Given the description of an element on the screen output the (x, y) to click on. 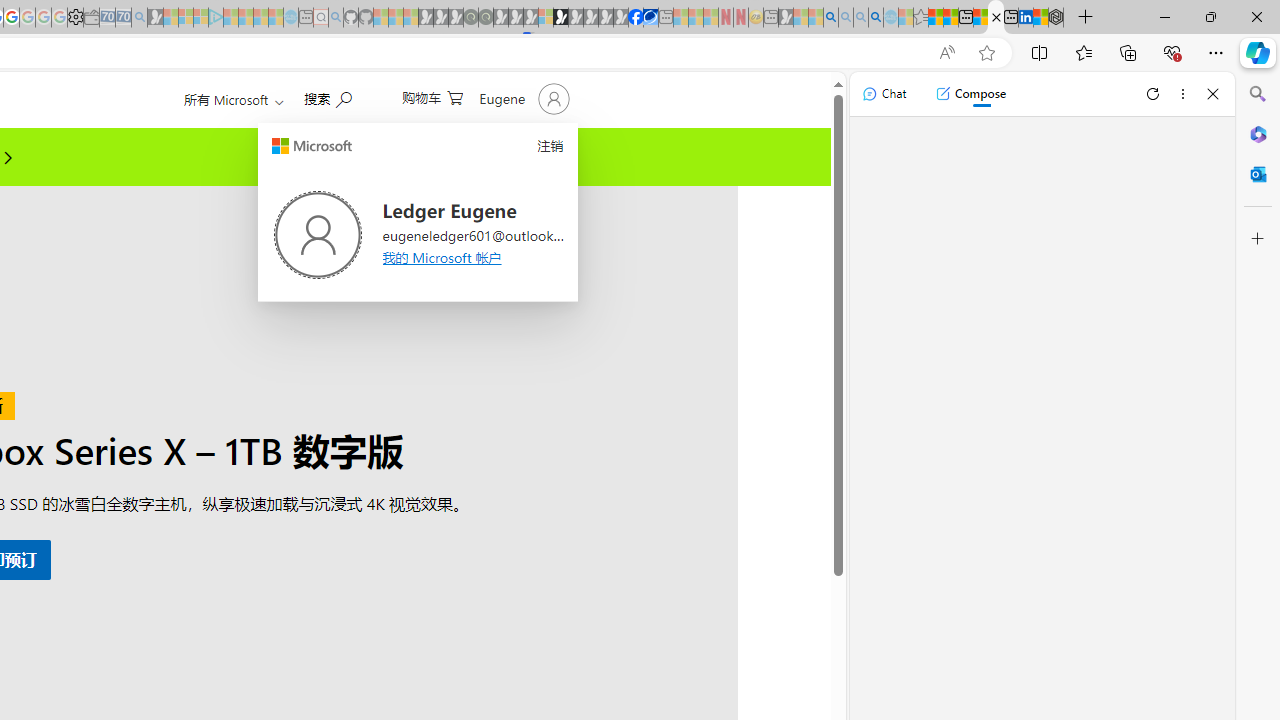
Microsoft account | Privacy - Sleeping (201, 17)
Favorites - Sleeping (920, 17)
New Tab (1085, 17)
More options (1182, 93)
Bing AI - Search (831, 17)
Cheap Car Rentals - Save70.com - Sleeping (123, 17)
Microsoft Start Gaming - Sleeping (155, 17)
Restore (1210, 16)
MSN - Sleeping (786, 17)
